Given the description of an element on the screen output the (x, y) to click on. 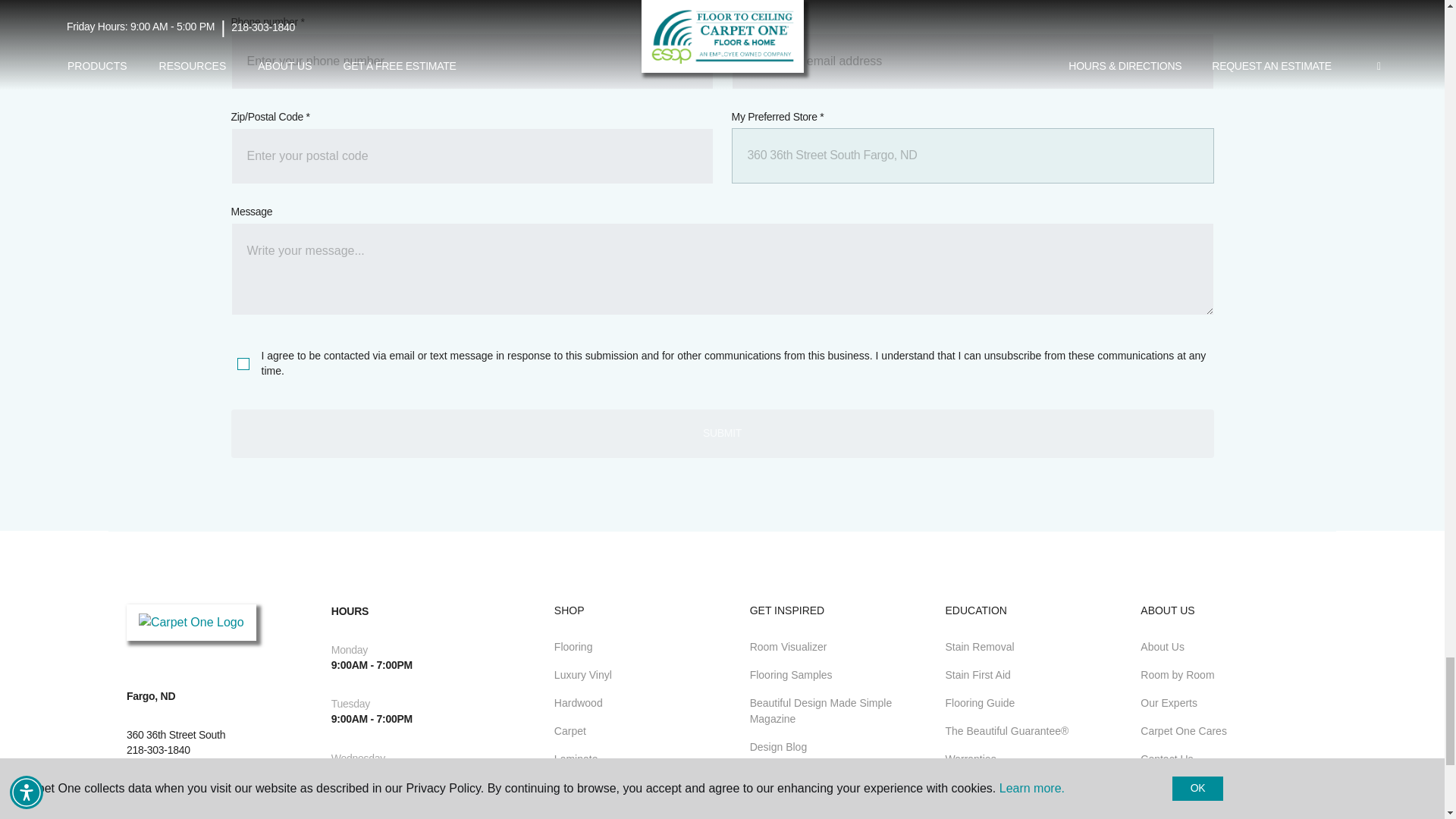
PostalCode (471, 155)
CleanHomePhone (471, 61)
MyMessage (721, 268)
EmailAddress (971, 61)
